Given the description of an element on the screen output the (x, y) to click on. 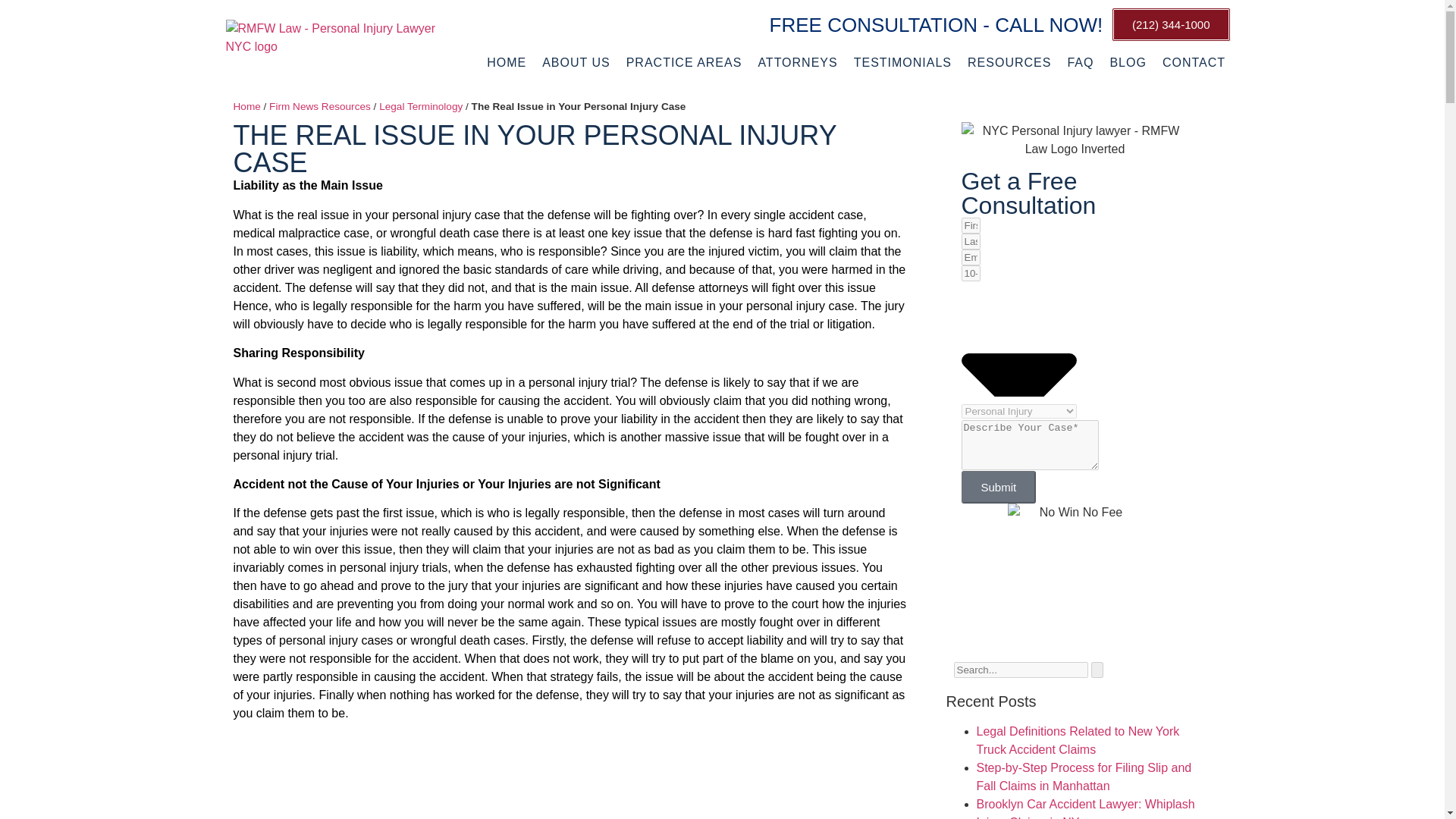
PRACTICE AREAS (684, 62)
ABOUT US (576, 62)
HOME (506, 62)
rmfw-law-logo (335, 42)
